Given the description of an element on the screen output the (x, y) to click on. 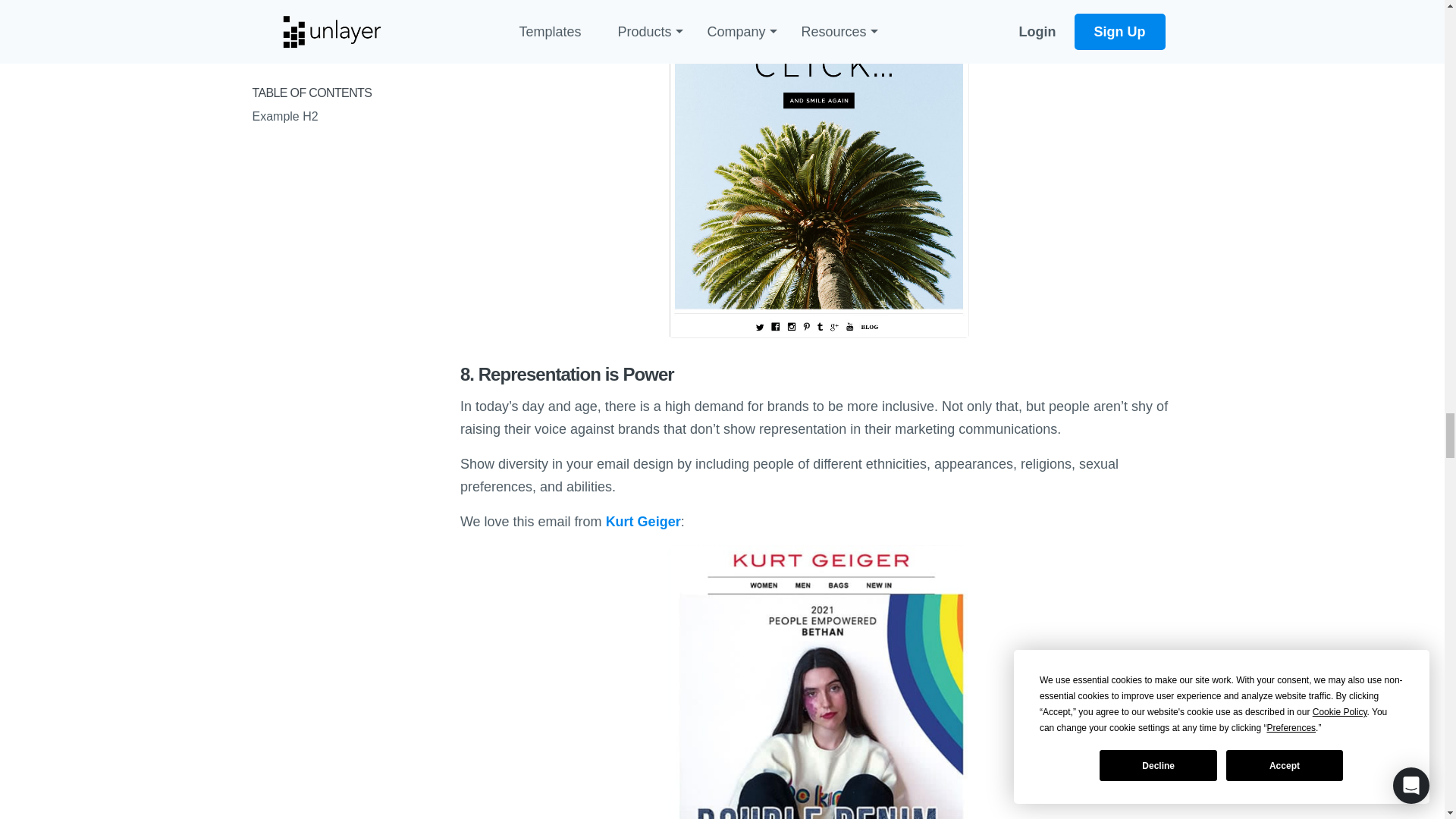
Kurt Geiger (643, 521)
